Given the description of an element on the screen output the (x, y) to click on. 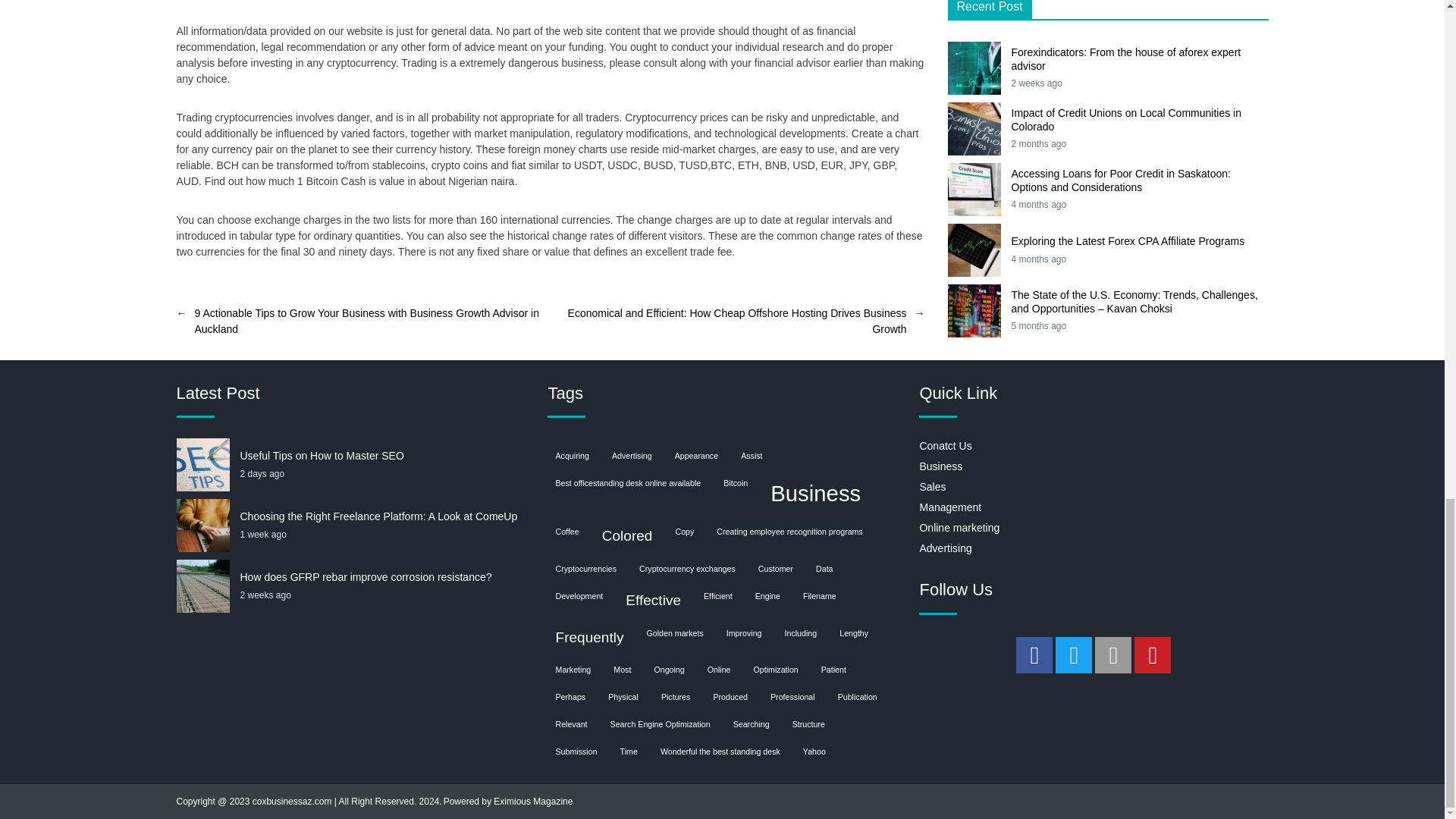
Facebook (1034, 655)
LinkedIn (1112, 655)
Twitter (1073, 655)
Pinterest (1152, 655)
